Given the description of an element on the screen output the (x, y) to click on. 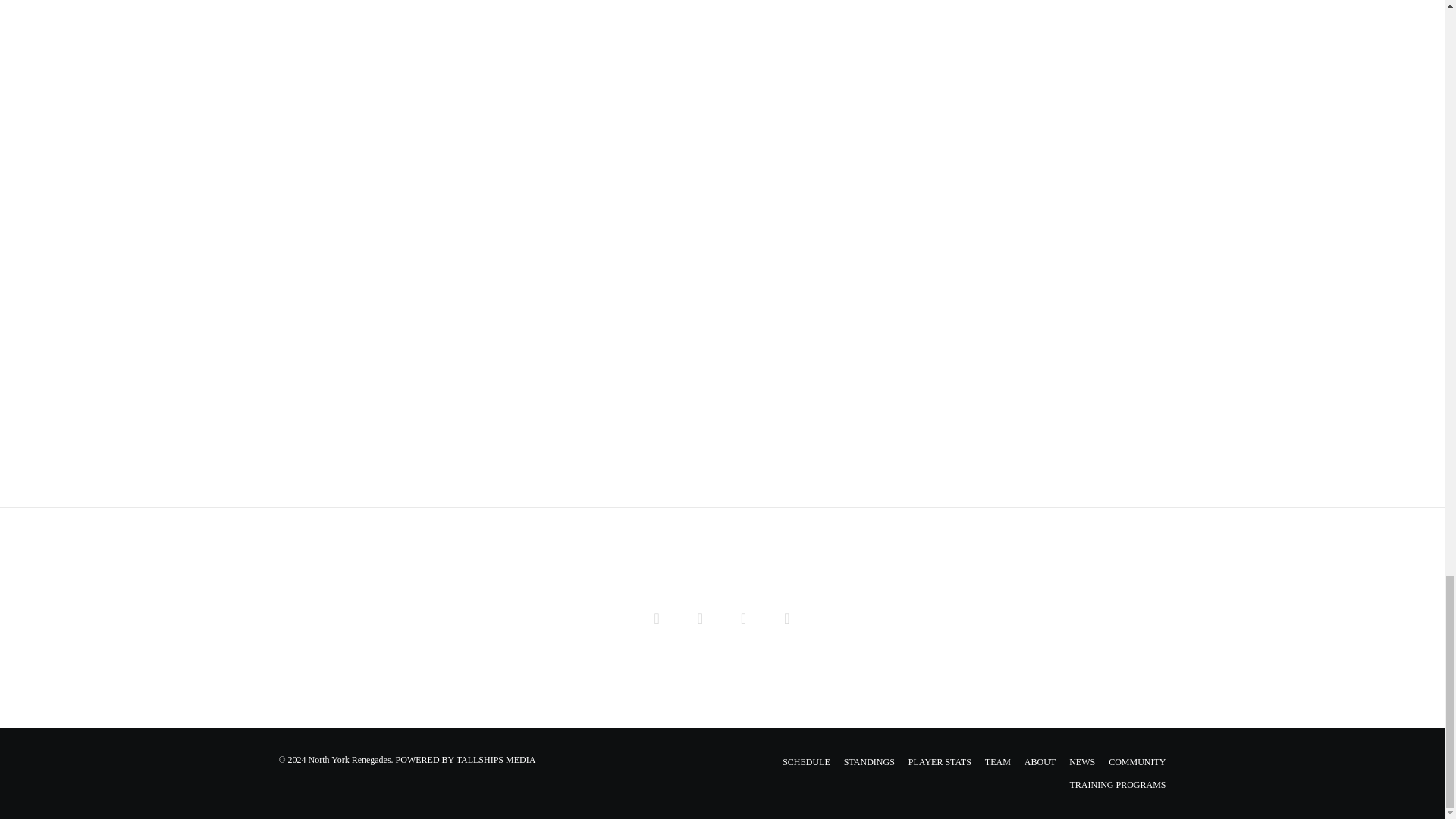
Jedidja Somersall Earns GMHL Honour (656, 617)
Jedidja Somersall Earns GMHL Honour (699, 617)
Jedidja Somersall Earns GMHL Honour (787, 617)
Jedidja Somersall Earns GMHL Honour (743, 617)
